Given the description of an element on the screen output the (x, y) to click on. 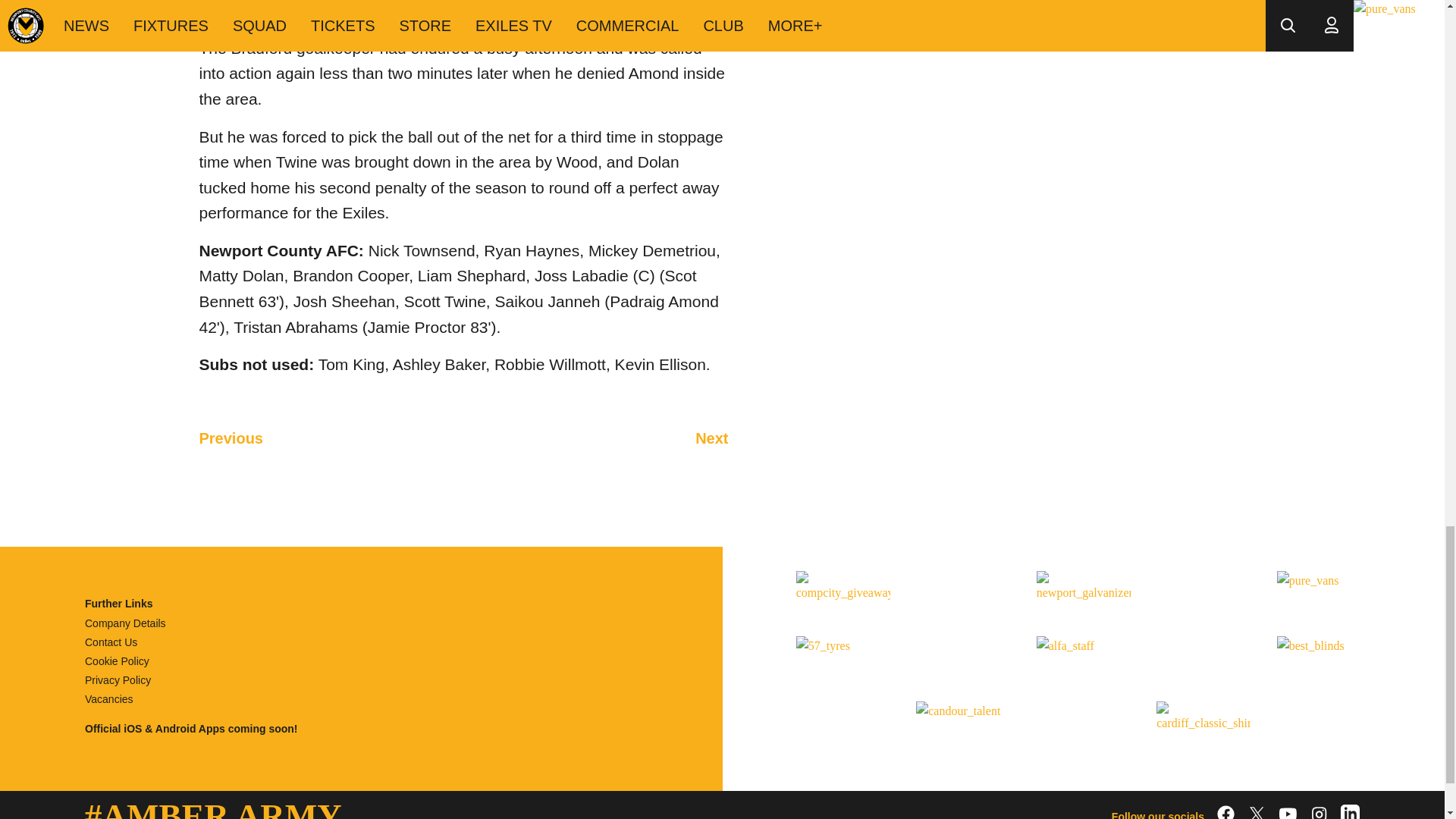
Pure Vans (1323, 597)
Candour Talent (962, 727)
Best Blinds (1323, 662)
CompCity Giveaways (842, 597)
Newport Galvanizers (1083, 597)
57 Tyres (842, 662)
Alfa Staff (1083, 662)
Cardiff Classic Shirts (1203, 727)
X Icon (1256, 811)
